Given the description of an element on the screen output the (x, y) to click on. 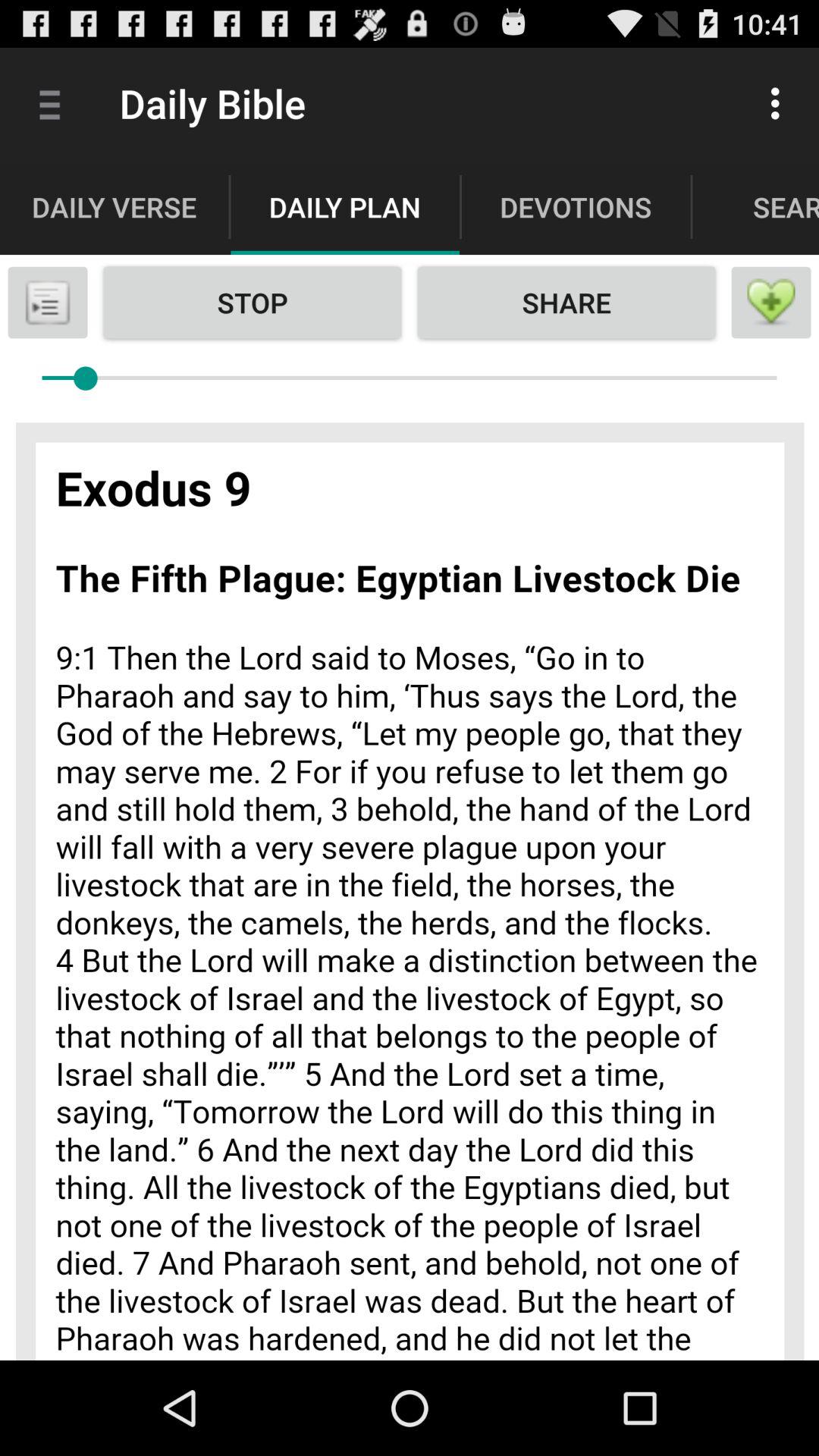
advertisement page (409, 883)
